Given the description of an element on the screen output the (x, y) to click on. 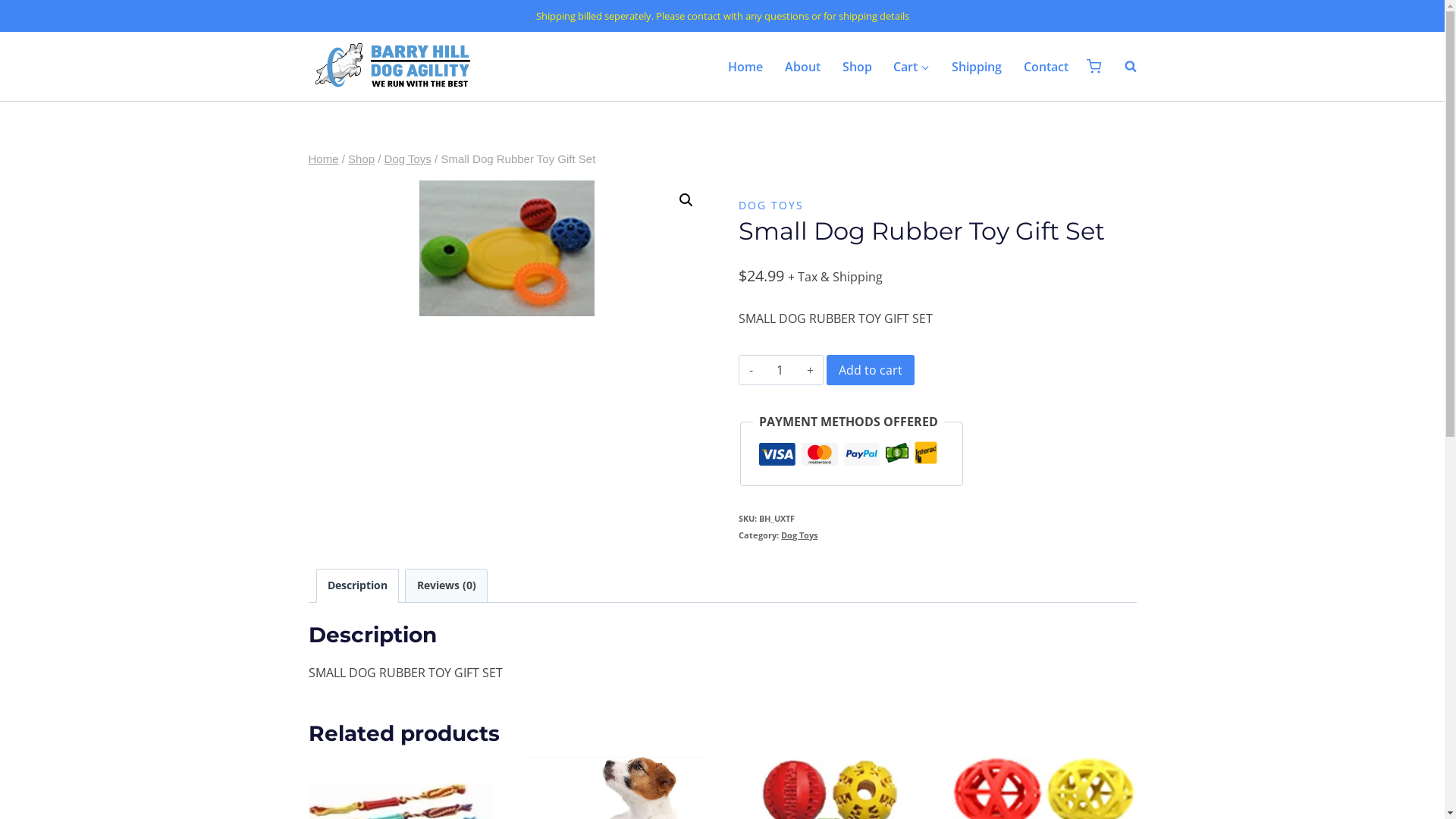
Shipping Element type: text (977, 65)
Shop Element type: text (856, 65)
ball7 Element type: hover (506, 248)
Dog Toys Element type: text (407, 158)
DOG TOYS Element type: text (770, 204)
About Element type: text (802, 65)
Add to cart Element type: text (870, 369)
Description Element type: text (357, 585)
Home Element type: text (322, 158)
Shop Element type: text (361, 158)
Contact Element type: text (1046, 65)
Dog Toys Element type: text (799, 534)
Cart Element type: text (911, 65)
Home Element type: text (745, 65)
Reviews (0) Element type: text (445, 585)
